Given the description of an element on the screen output the (x, y) to click on. 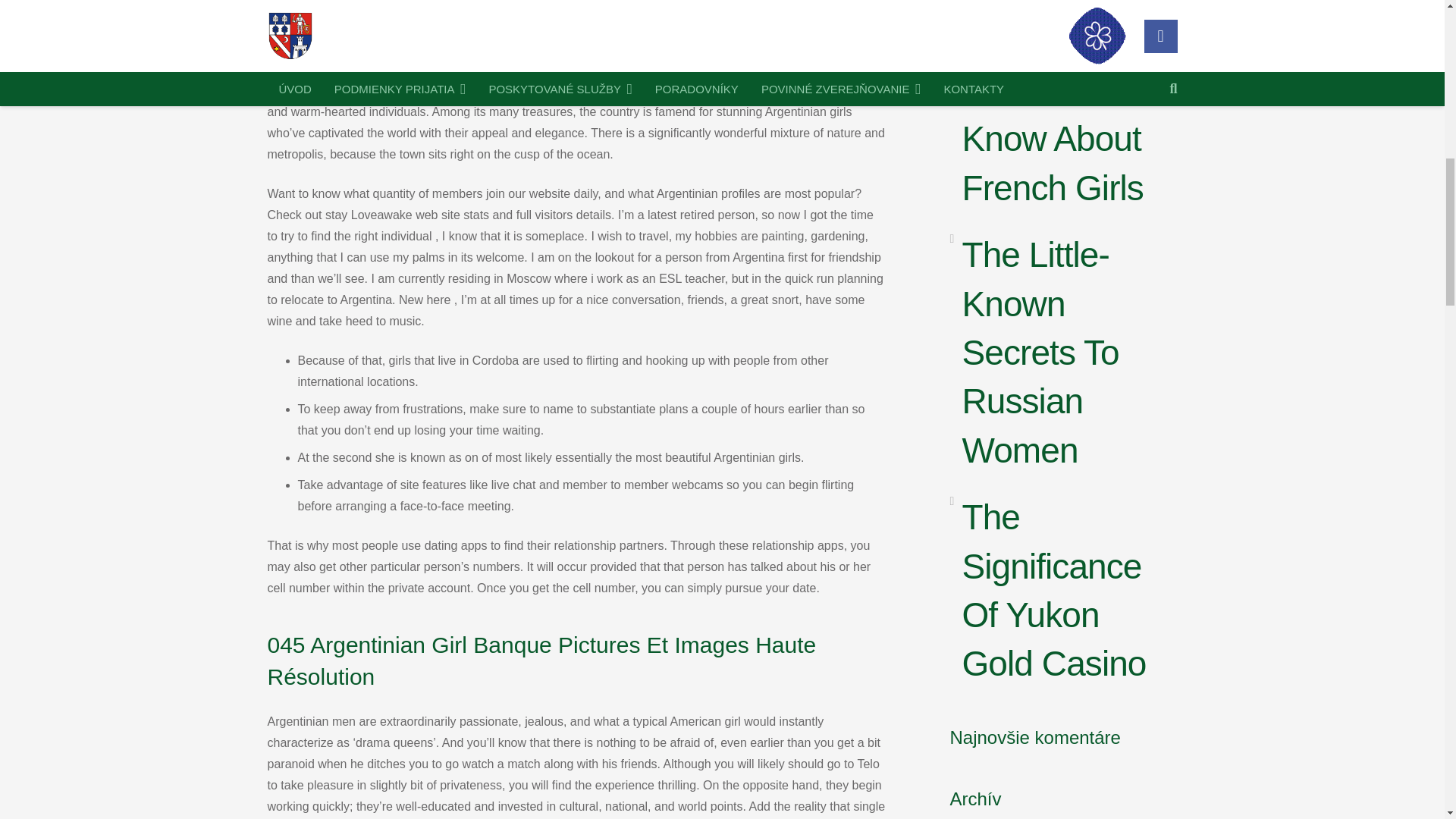
Back to top (1413, 30)
